Given the description of an element on the screen output the (x, y) to click on. 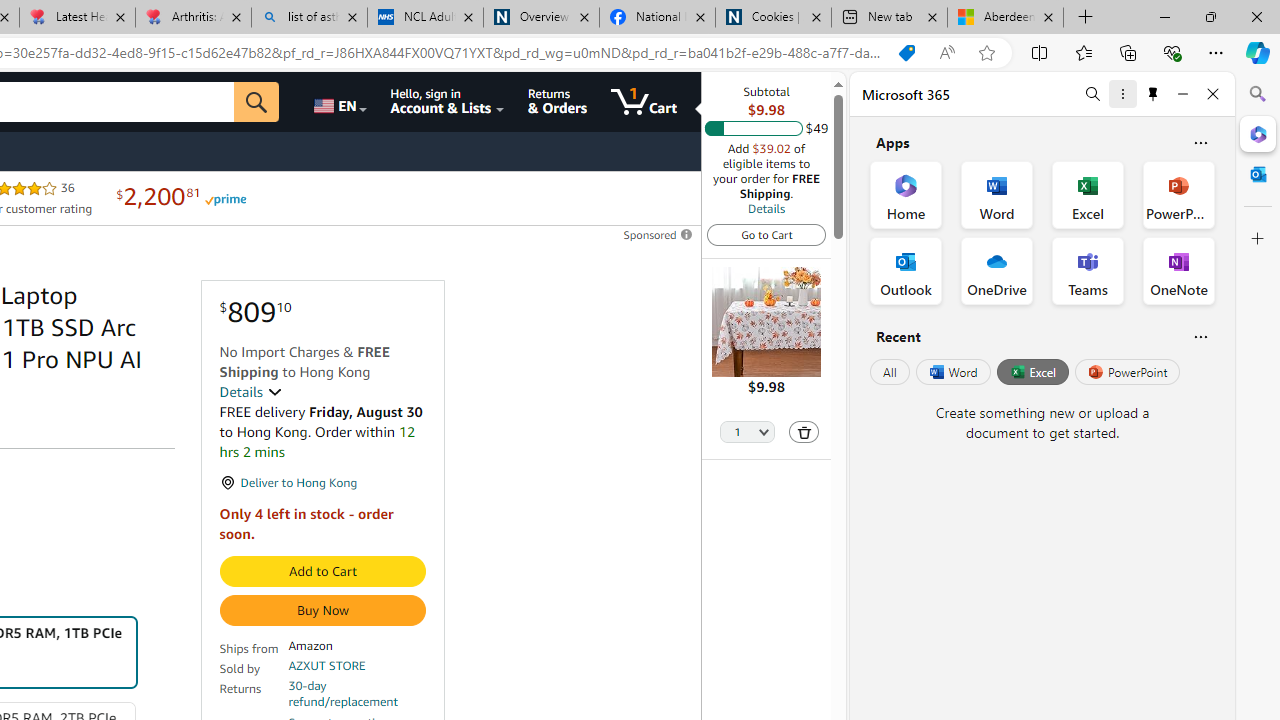
All (890, 372)
Details  (250, 391)
Choose a language for shopping. (339, 101)
30-day refund/replacement (357, 693)
You have the best price! (906, 53)
Cookies | About | NICE (772, 17)
Returns & Orders (557, 101)
AZXUT STORE (327, 665)
Buy Now (322, 610)
